Given the description of an element on the screen output the (x, y) to click on. 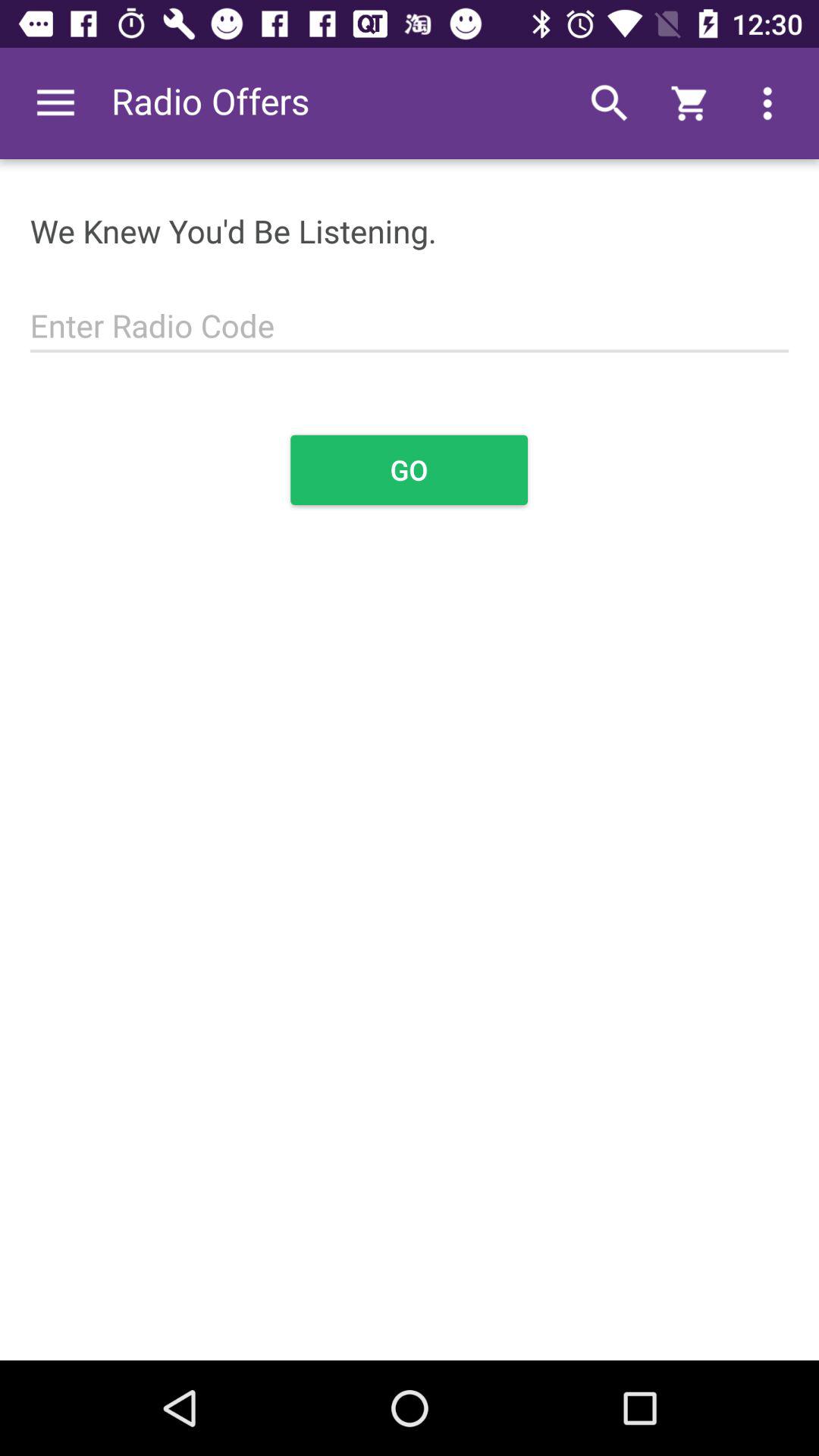
choose icon below the we knew you (409, 317)
